Given the description of an element on the screen output the (x, y) to click on. 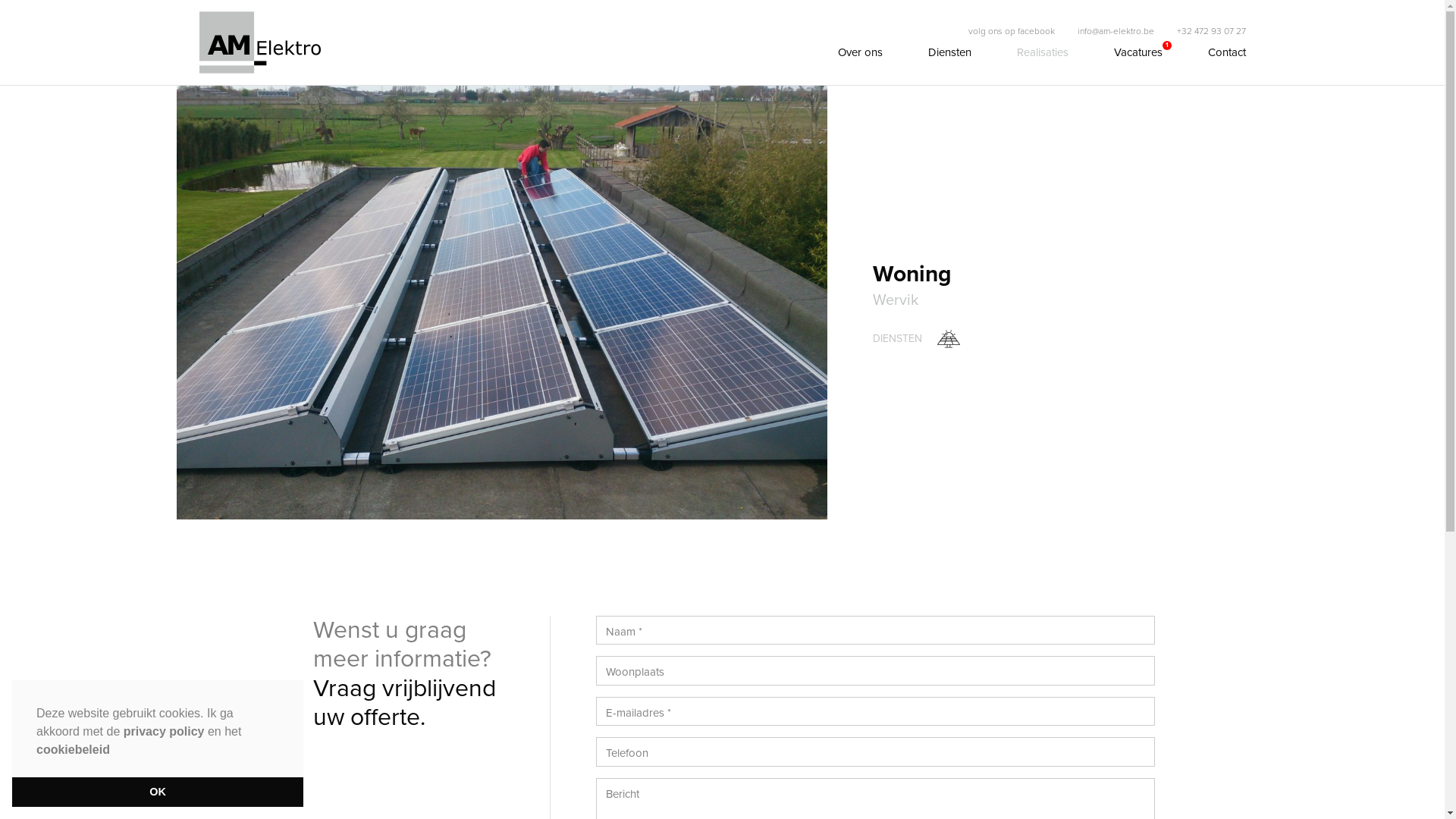
+32 472 93 07 27 Element type: text (1210, 30)
privacy policy Element type: text (163, 730)
cookiebeleid Element type: text (72, 749)
Zonnepanelen Element type: hover (948, 338)
OK Element type: text (157, 791)
info@am-elektro.be Element type: text (1114, 30)
volg ons op facebook Element type: text (1010, 30)
AM Elektro Element type: text (259, 42)
Over ons Element type: text (859, 52)
Contact Element type: text (1226, 52)
Vacatures
1 Element type: text (1137, 52)
Diensten Element type: text (949, 52)
Realisaties Element type: text (1041, 52)
